Given the description of an element on the screen output the (x, y) to click on. 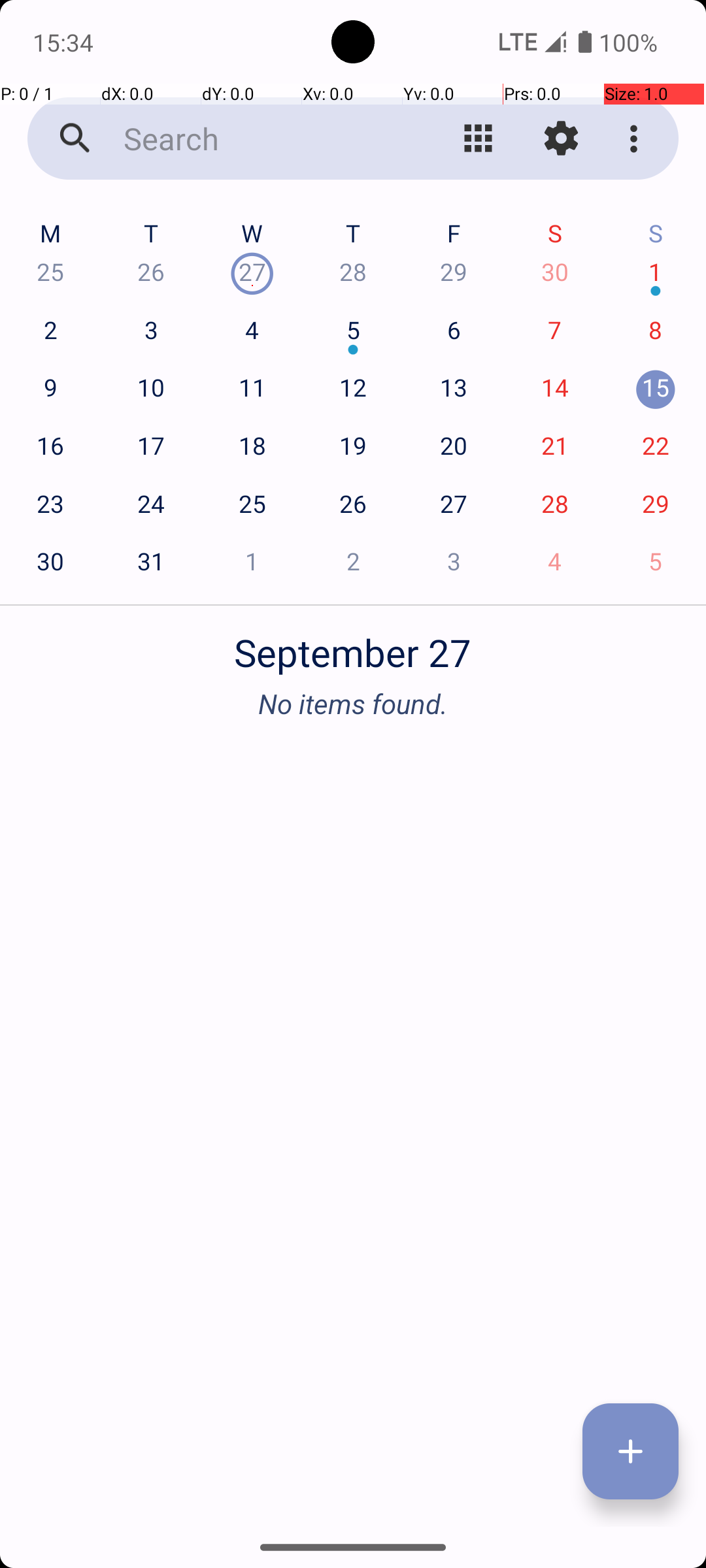
September 27 Element type: android.widget.TextView (352, 644)
